Given the description of an element on the screen output the (x, y) to click on. 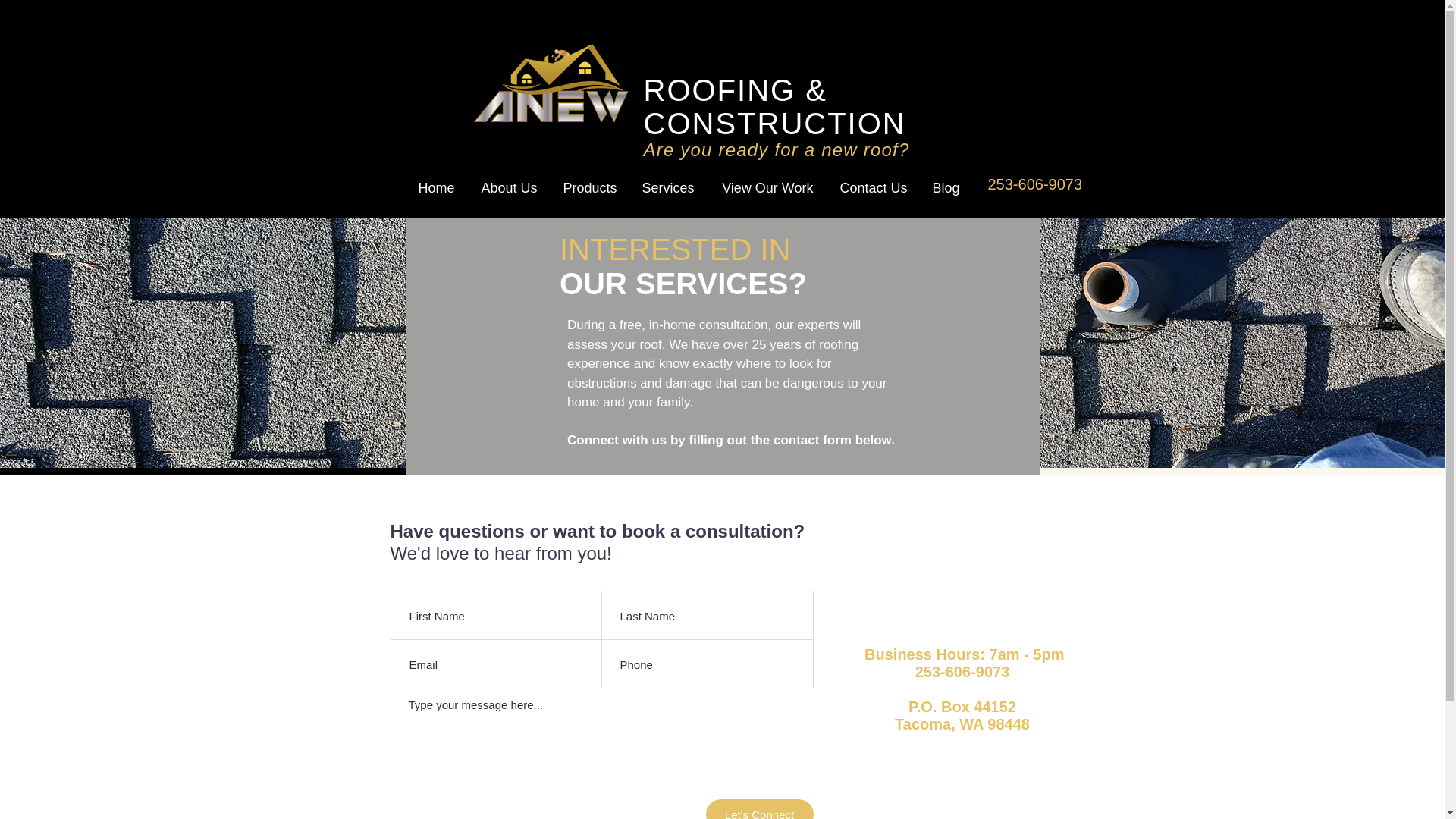
Home (434, 187)
Let's Connect (758, 809)
View Our Work (764, 187)
Services (665, 187)
Contact Us (871, 187)
253-606-9073 (1034, 182)
253-606-9073 (552, 83)
About Us (506, 187)
Products (588, 187)
Blog (944, 187)
